Given the description of an element on the screen output the (x, y) to click on. 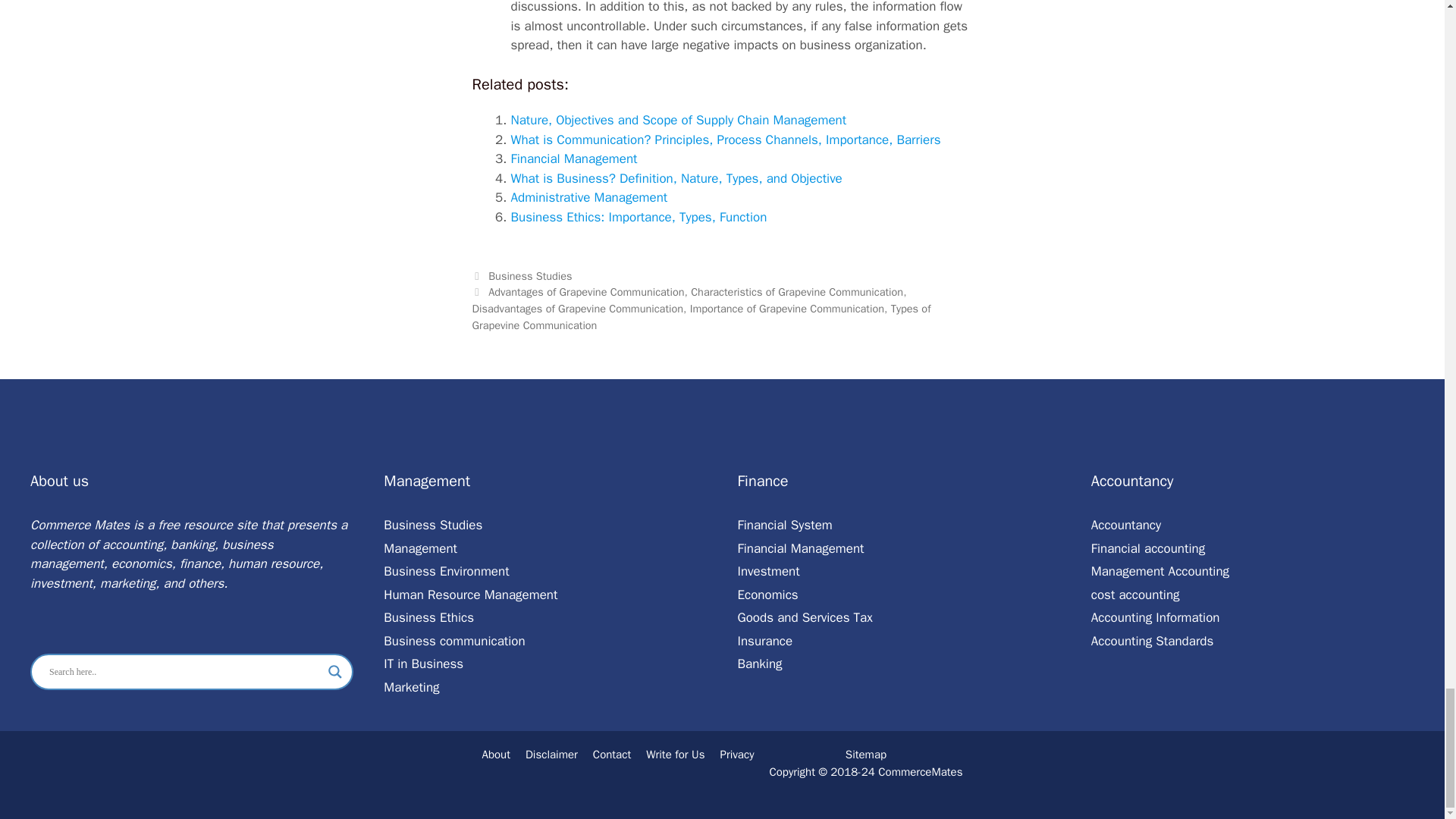
Administrative Management (589, 197)
Financial Management (574, 158)
Nature, Objectives and Scope of Supply Chain Management (679, 119)
What is Business? Definition, Nature, Types, and Objective (677, 178)
